Given the description of an element on the screen output the (x, y) to click on. 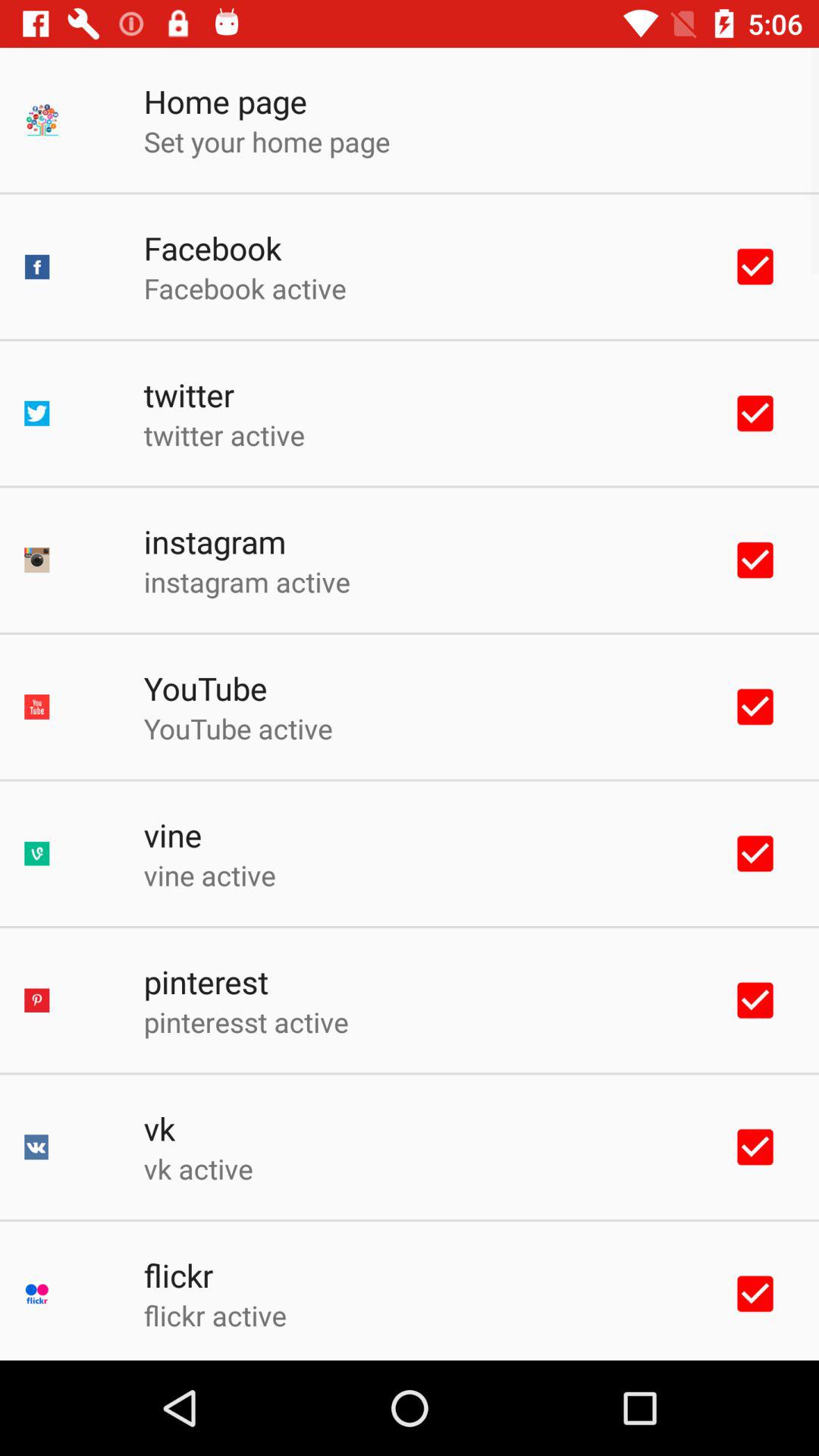
jump to the youtube active (237, 728)
